Given the description of an element on the screen output the (x, y) to click on. 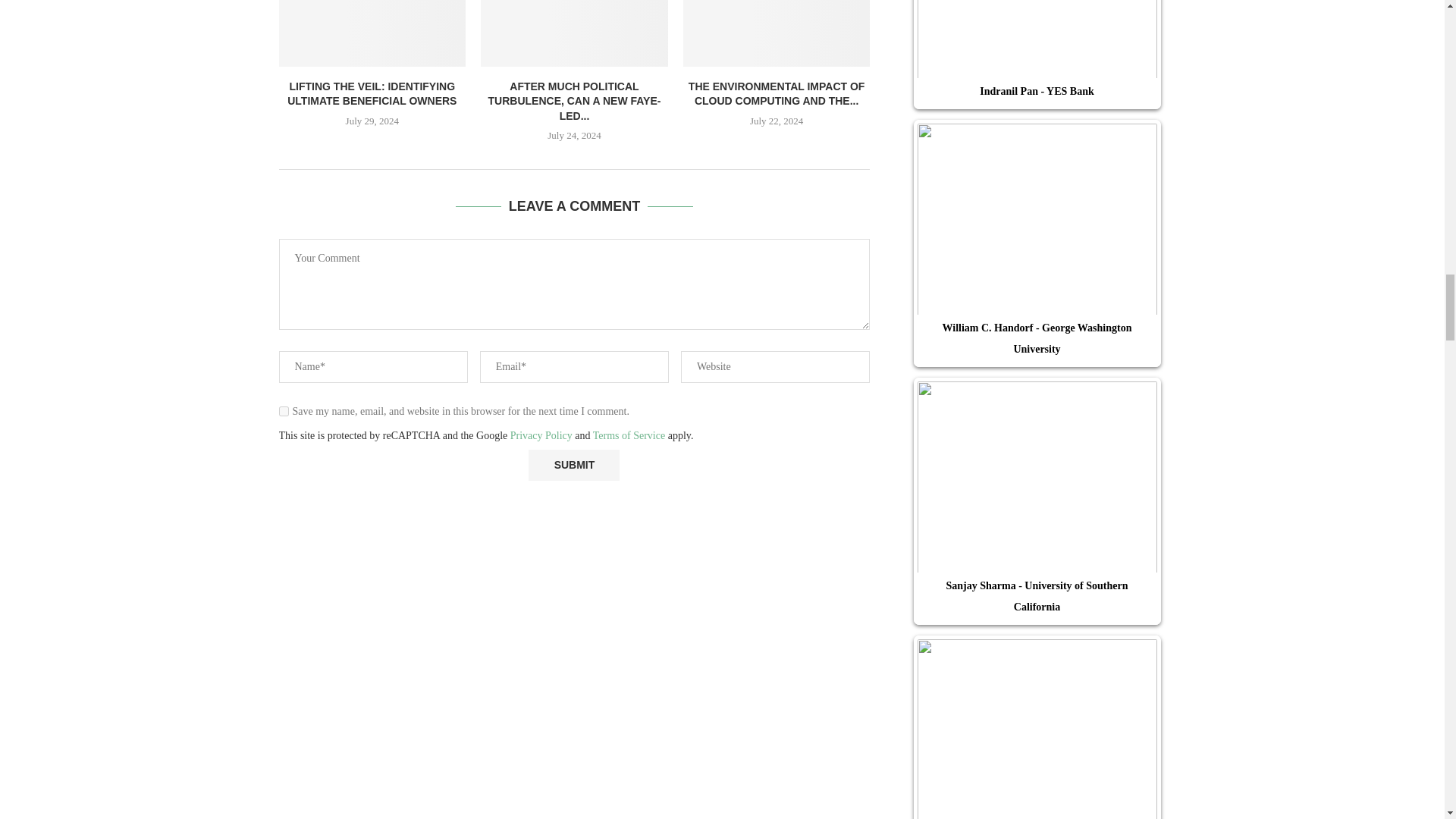
Submit (574, 464)
yes (283, 411)
Lifting the Veil: Identifying Ultimate Beneficial Owners (372, 33)
